Given the description of an element on the screen output the (x, y) to click on. 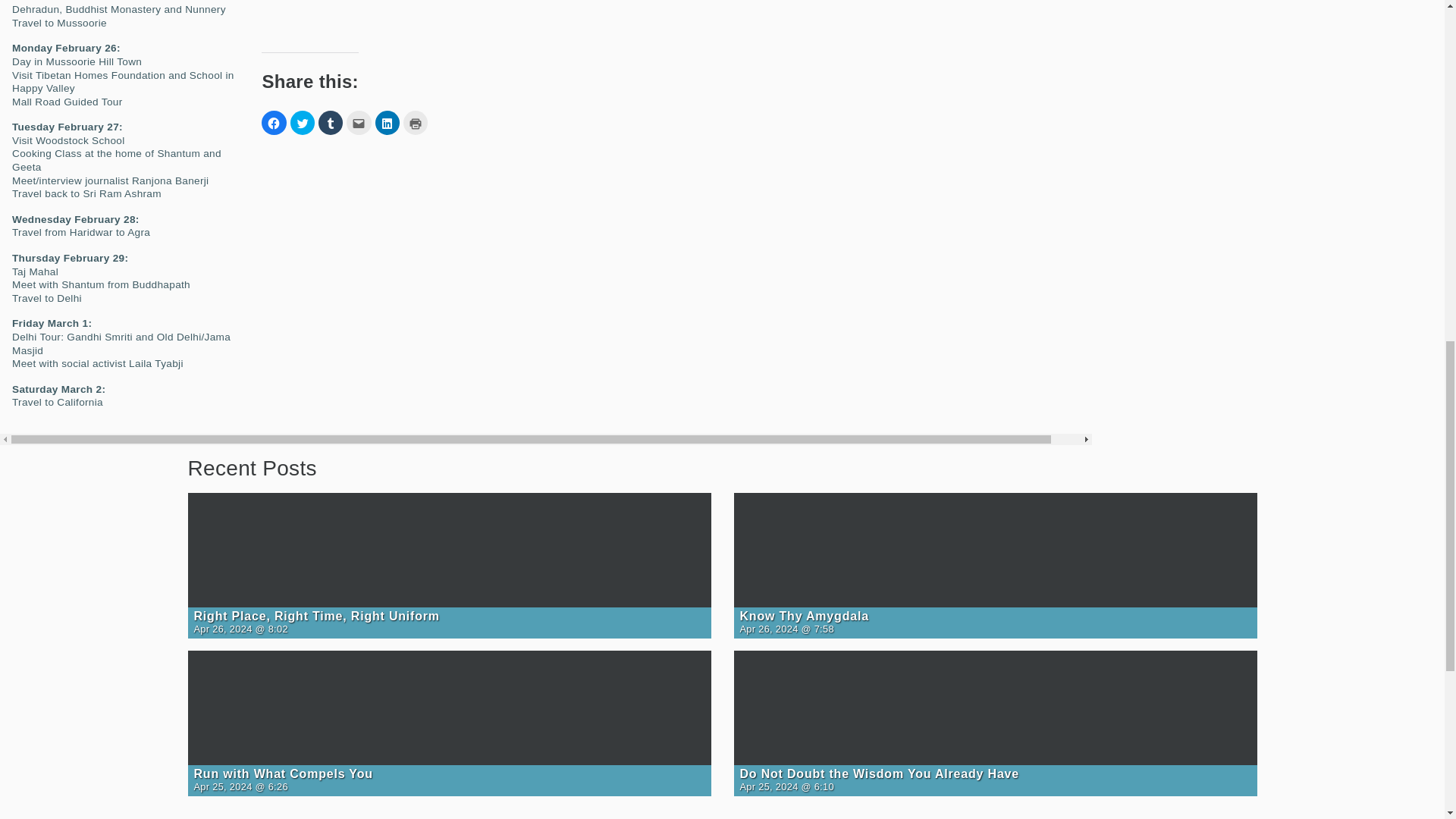
Click to share on Tumblr (330, 122)
Click to share on Facebook (273, 122)
Click to share on Twitter (301, 122)
Click to share on LinkedIn (386, 122)
Click to print (415, 122)
Click to email this to a friend (358, 122)
